Given the description of an element on the screen output the (x, y) to click on. 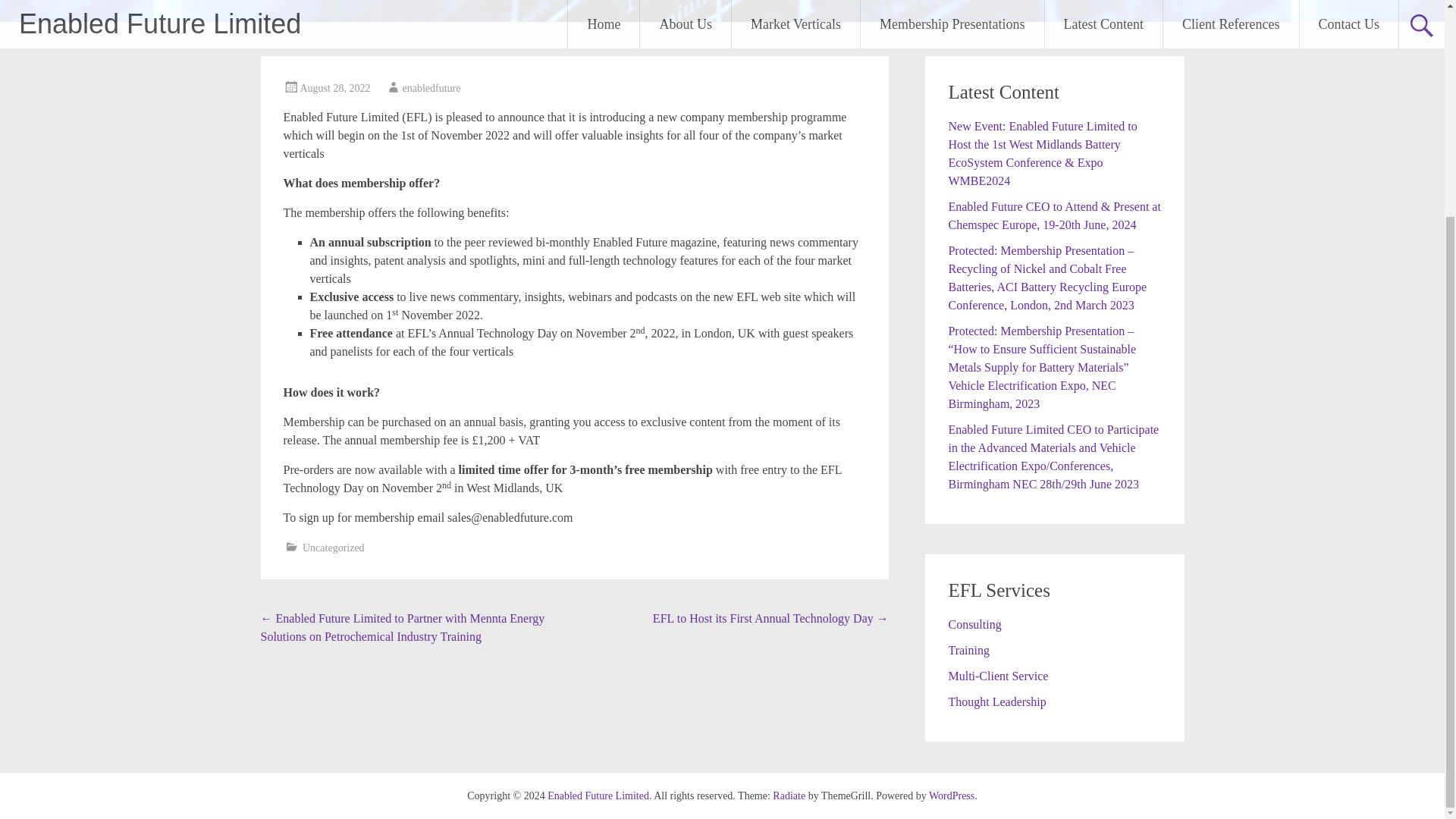
Training (968, 649)
Thought Leadership (996, 701)
Radiate (789, 795)
Uncategorized (333, 547)
Enabled Future Limited (598, 795)
Multi-Client Service (997, 675)
Enabled Future Limited (598, 795)
Radiate (789, 795)
Consulting (974, 624)
WordPress (951, 795)
